Given the description of an element on the screen output the (x, y) to click on. 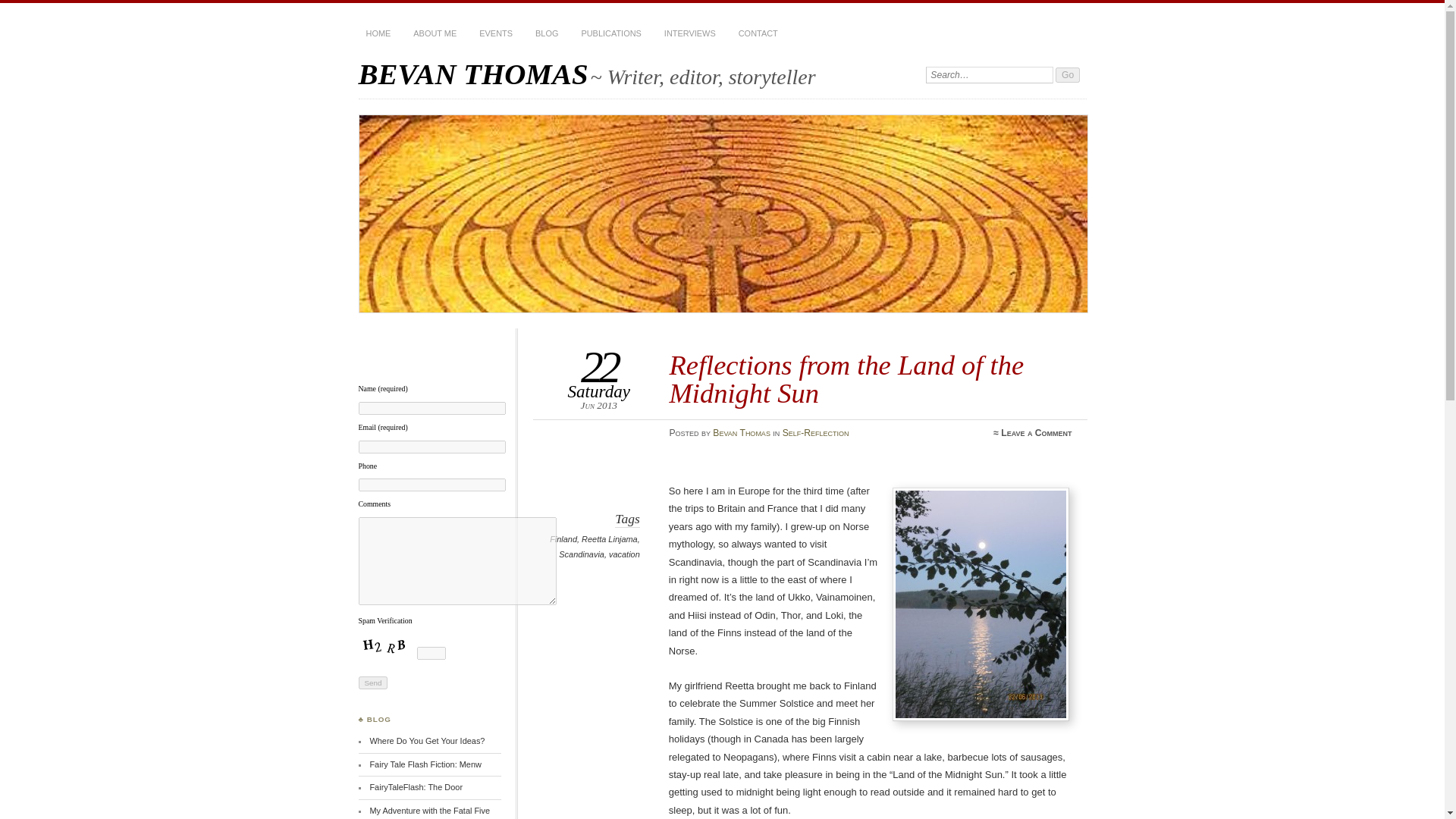
Leave a Comment (1036, 432)
My Adventure with the Fatal Five (429, 809)
vacation (624, 553)
Go (1067, 74)
Where Do You Get Your Ideas? (426, 740)
BEVAN THOMAS (473, 73)
Send (372, 682)
Bevan Thomas (741, 432)
BLOG (546, 33)
Fairy Tale Flash Fiction: Menw (425, 764)
PUBLICATIONS (610, 33)
CONTACT (758, 33)
INTERVIEWS (689, 33)
Finland (563, 538)
